Given the description of an element on the screen output the (x, y) to click on. 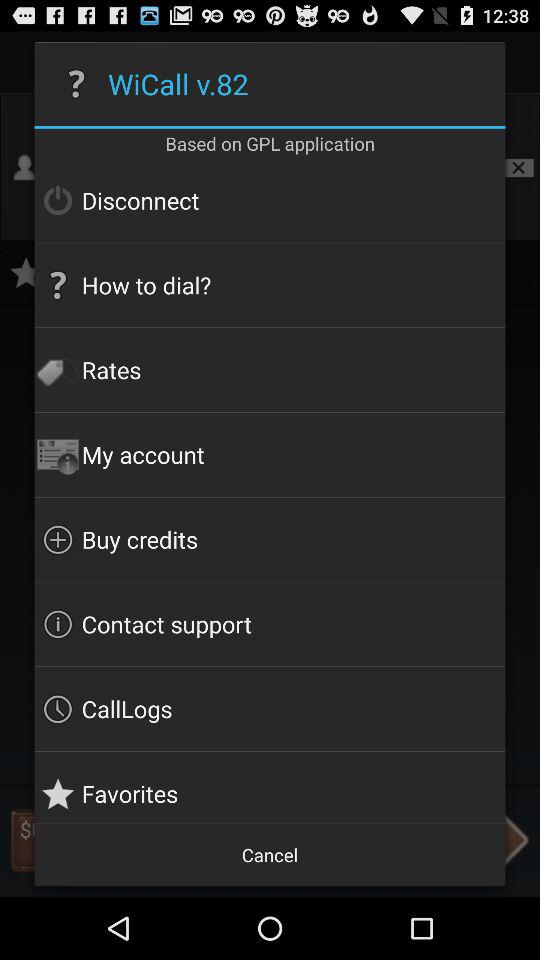
tap the item below rates icon (269, 454)
